Given the description of an element on the screen output the (x, y) to click on. 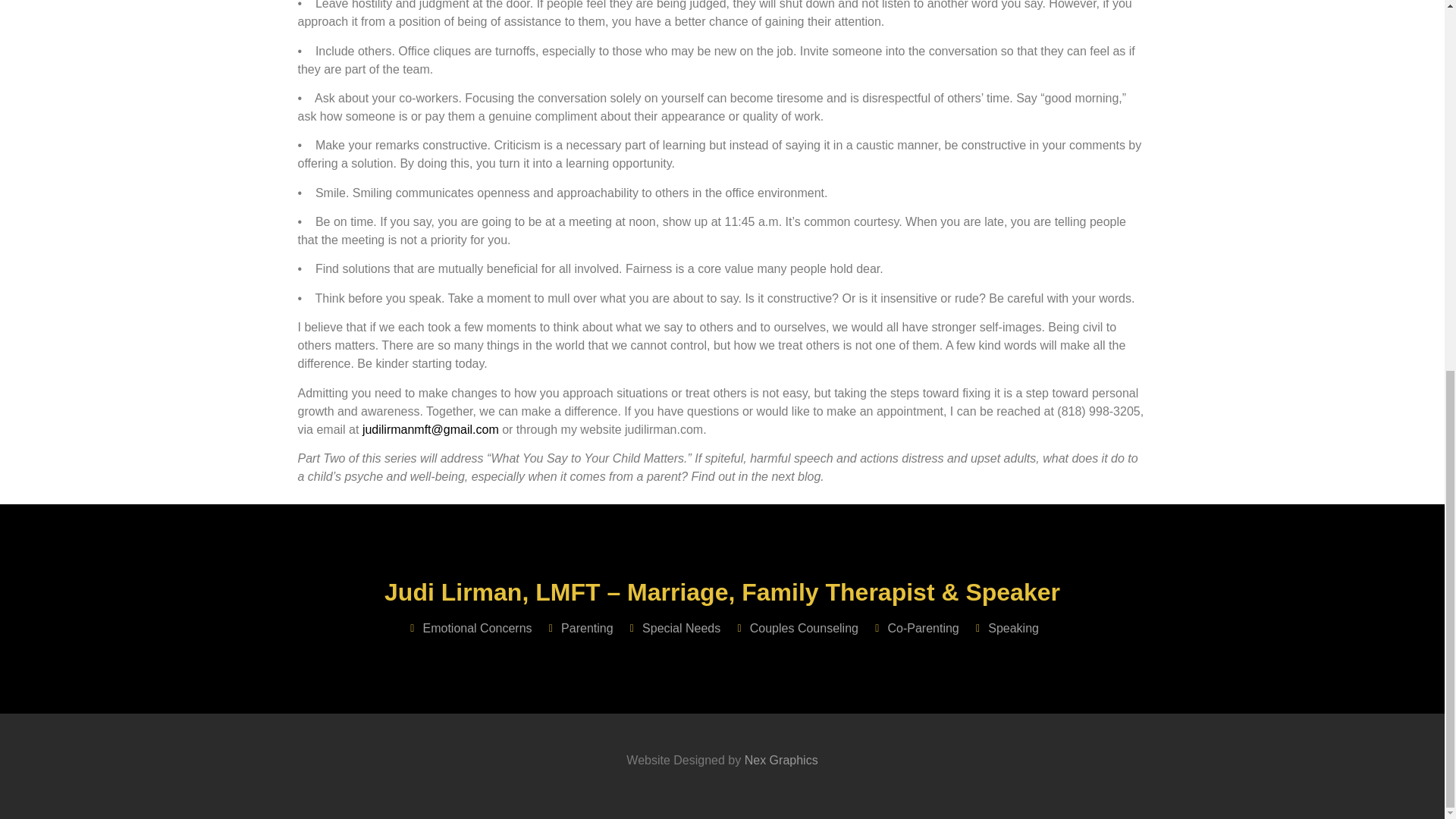
Special Needs (673, 628)
Speaking (1005, 628)
Nex Graphics (778, 759)
Parenting (578, 628)
Emotional Concerns (469, 628)
Couples Counseling (795, 628)
Co-Parenting (914, 628)
